Given the description of an element on the screen output the (x, y) to click on. 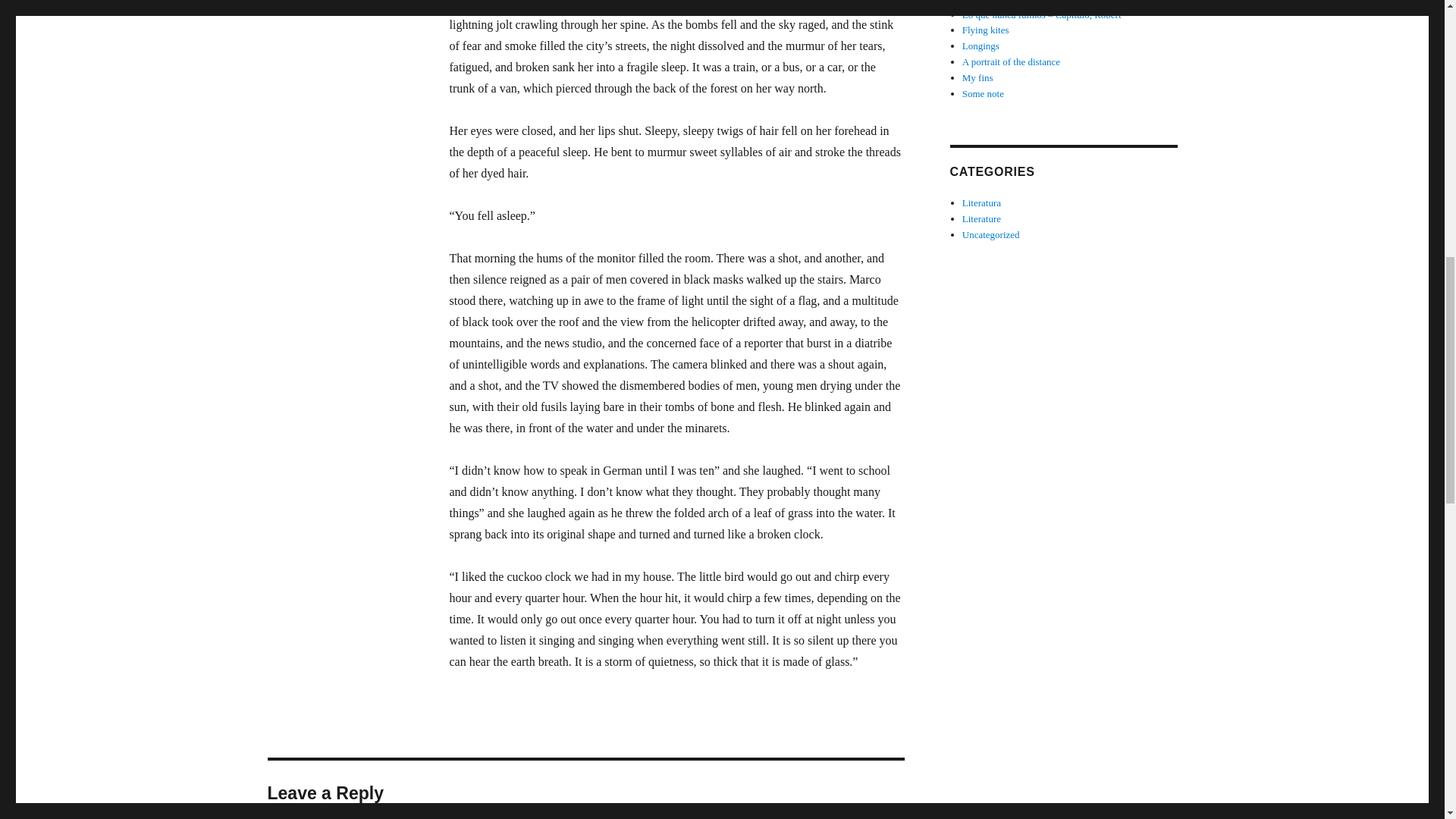
A portrait of the distance (1010, 61)
Flying kites (985, 30)
My fins (977, 77)
Something missing (1000, 2)
Longings (980, 45)
Some note (983, 93)
